Given the description of an element on the screen output the (x, y) to click on. 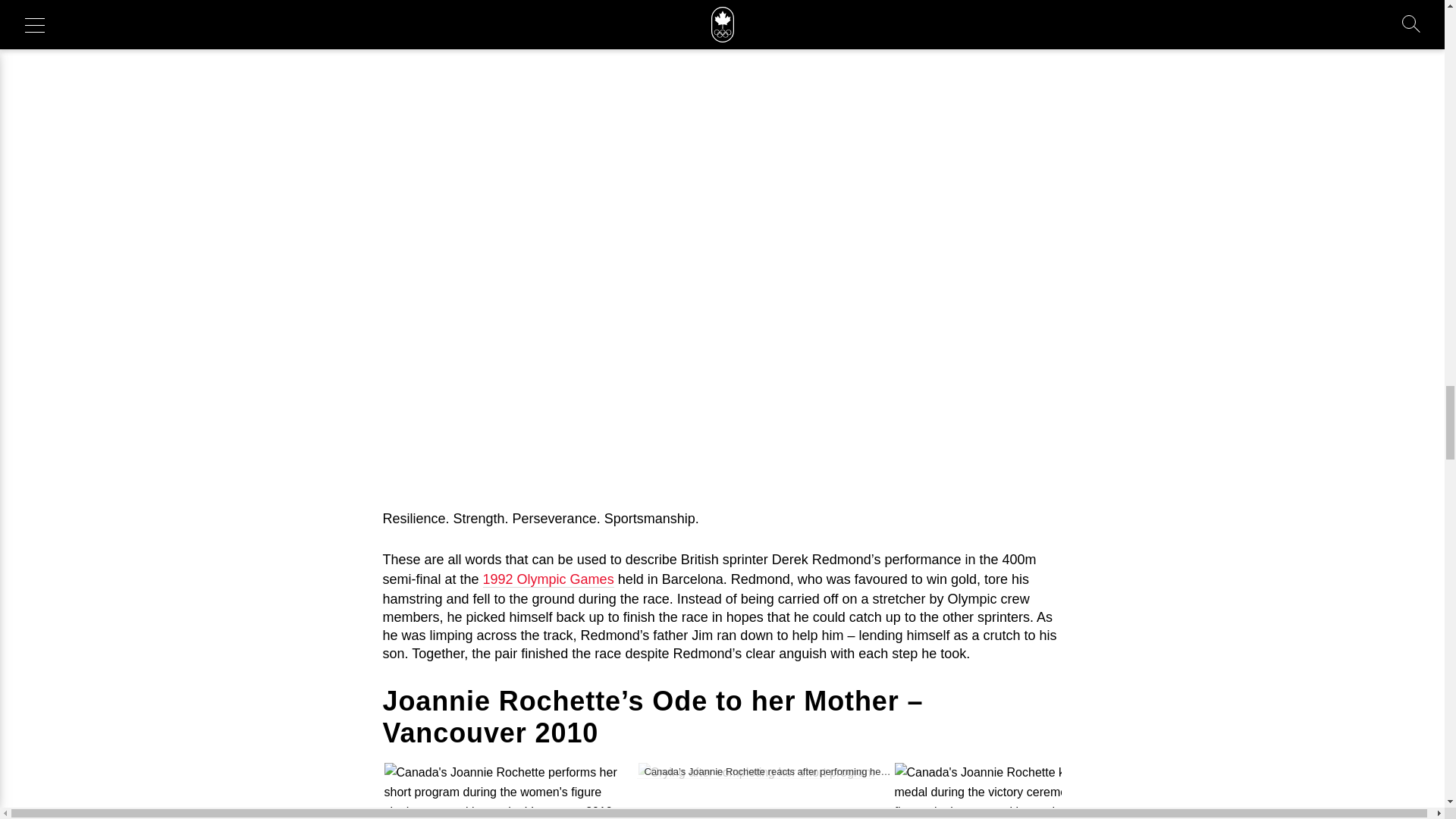
Vancouver Olympics Figure Skating (1040, 790)
Vancouver Olympics Figure Skating (757, 772)
Vancouver Olympics Figure Skating (509, 790)
